Given the description of an element on the screen output the (x, y) to click on. 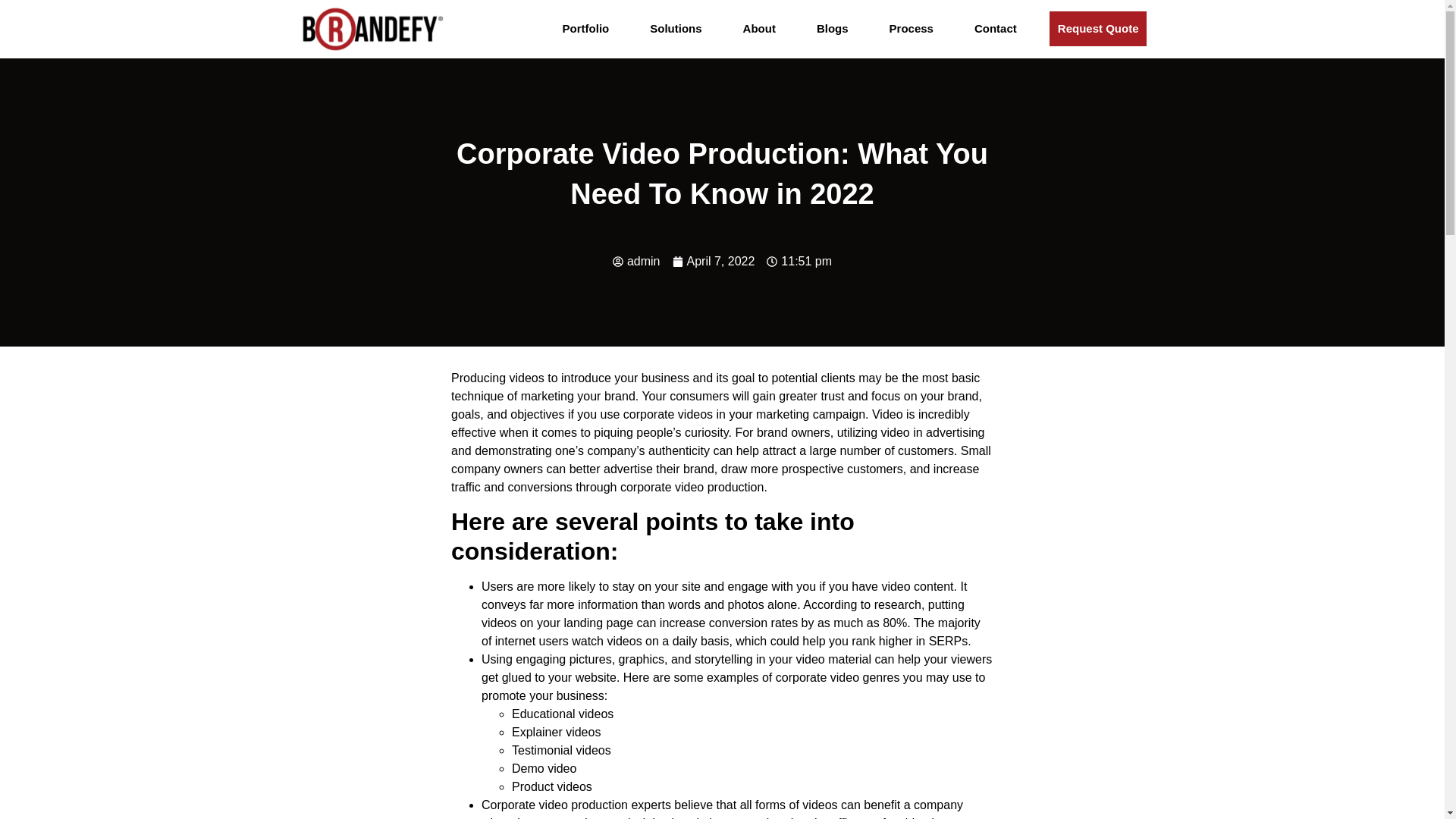
Contact (995, 28)
Portfolio (585, 28)
Blogs (832, 28)
Request Quote (1098, 28)
admin (636, 261)
About (759, 28)
Solutions (676, 28)
Process (911, 28)
